Given the description of an element on the screen output the (x, y) to click on. 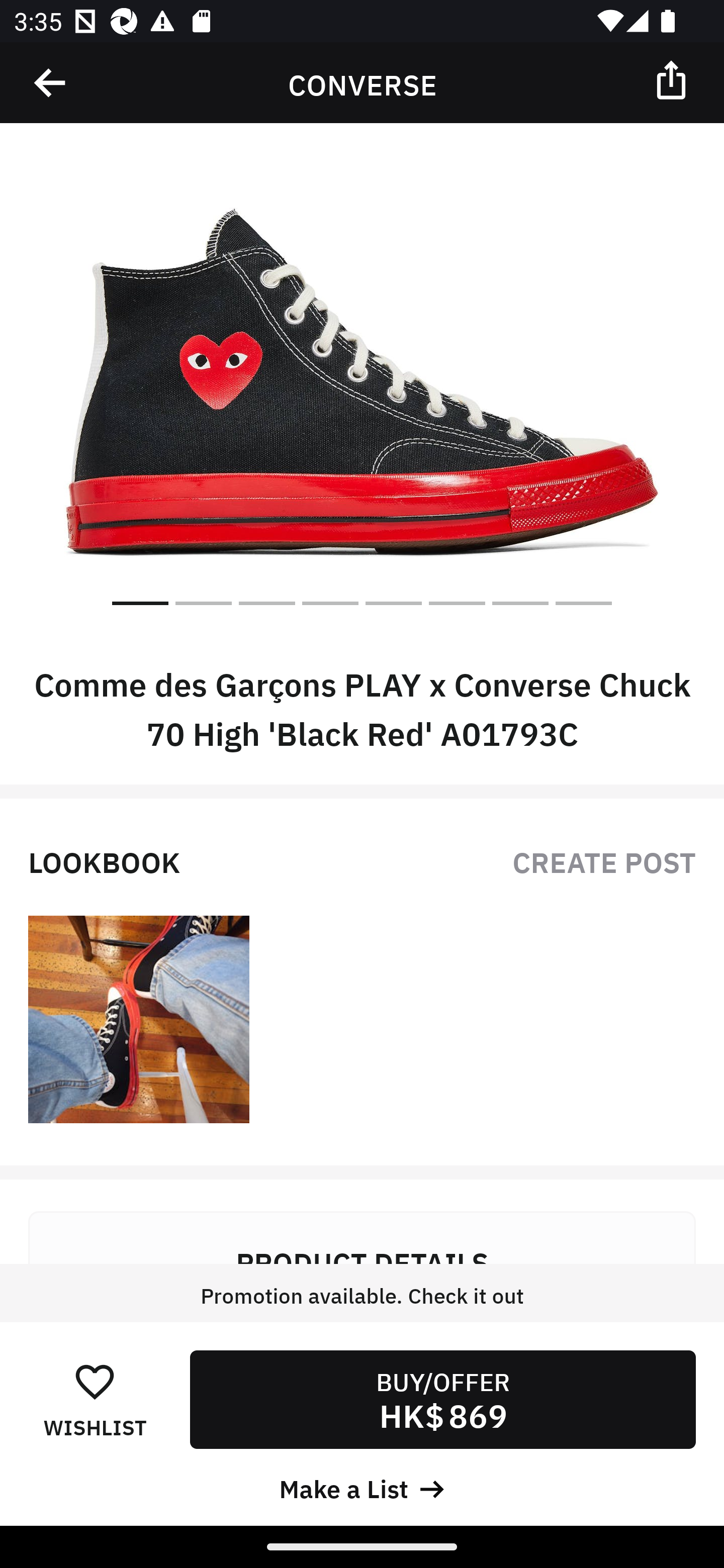
 (50, 83)
 (672, 79)
CREATE POST (603, 860)
BUY/OFFER HK$ 869 (442, 1399)
󰋕 (94, 1380)
Make a List (361, 1486)
